Given the description of an element on the screen output the (x, y) to click on. 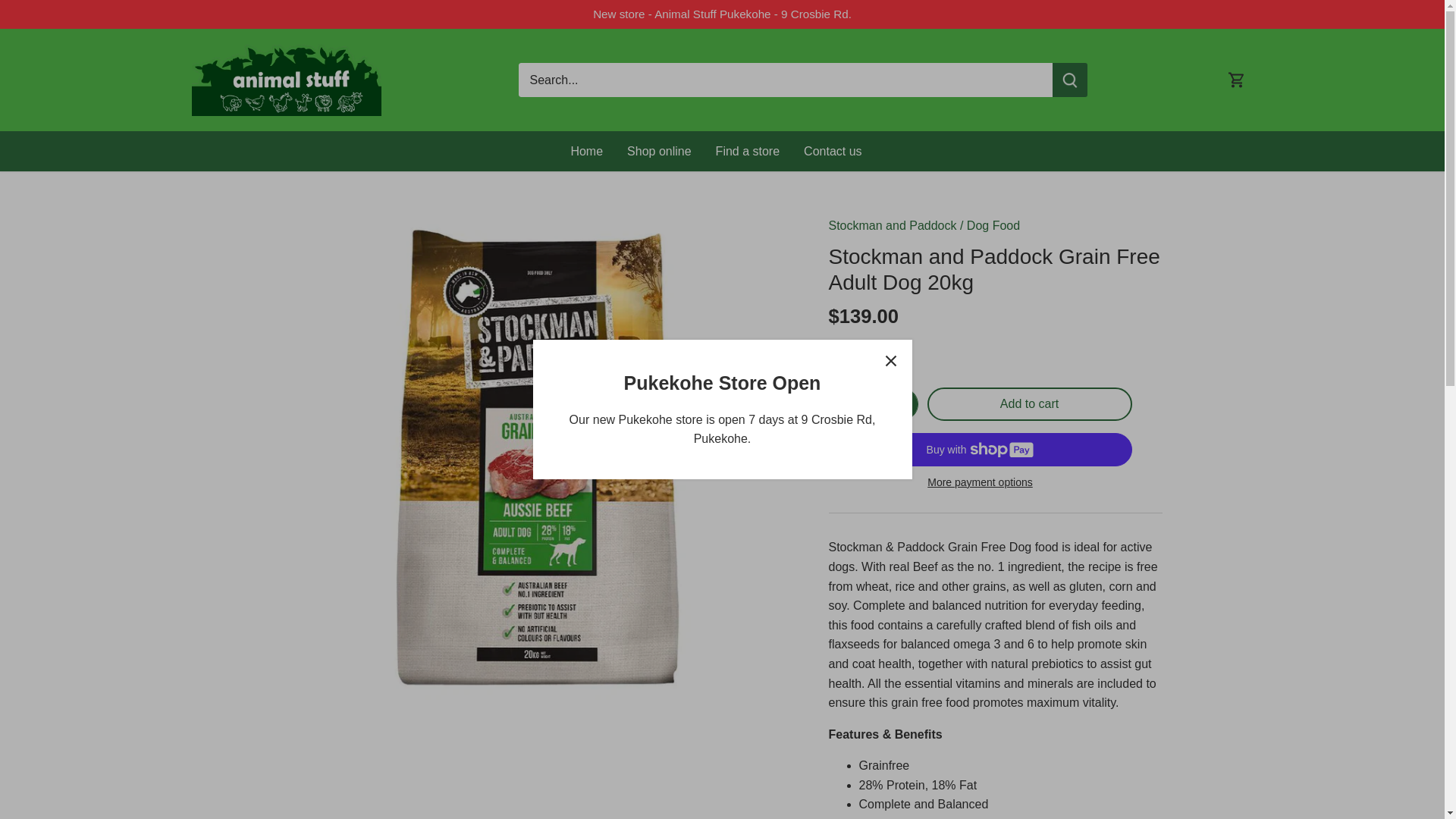
Shop online (658, 151)
Find a store (747, 151)
1 (873, 404)
Home (592, 151)
Stockman and Paddock (892, 225)
Add to cart (1028, 403)
Contact us (832, 151)
Dog Food (993, 225)
More payment options (979, 482)
